Given the description of an element on the screen output the (x, y) to click on. 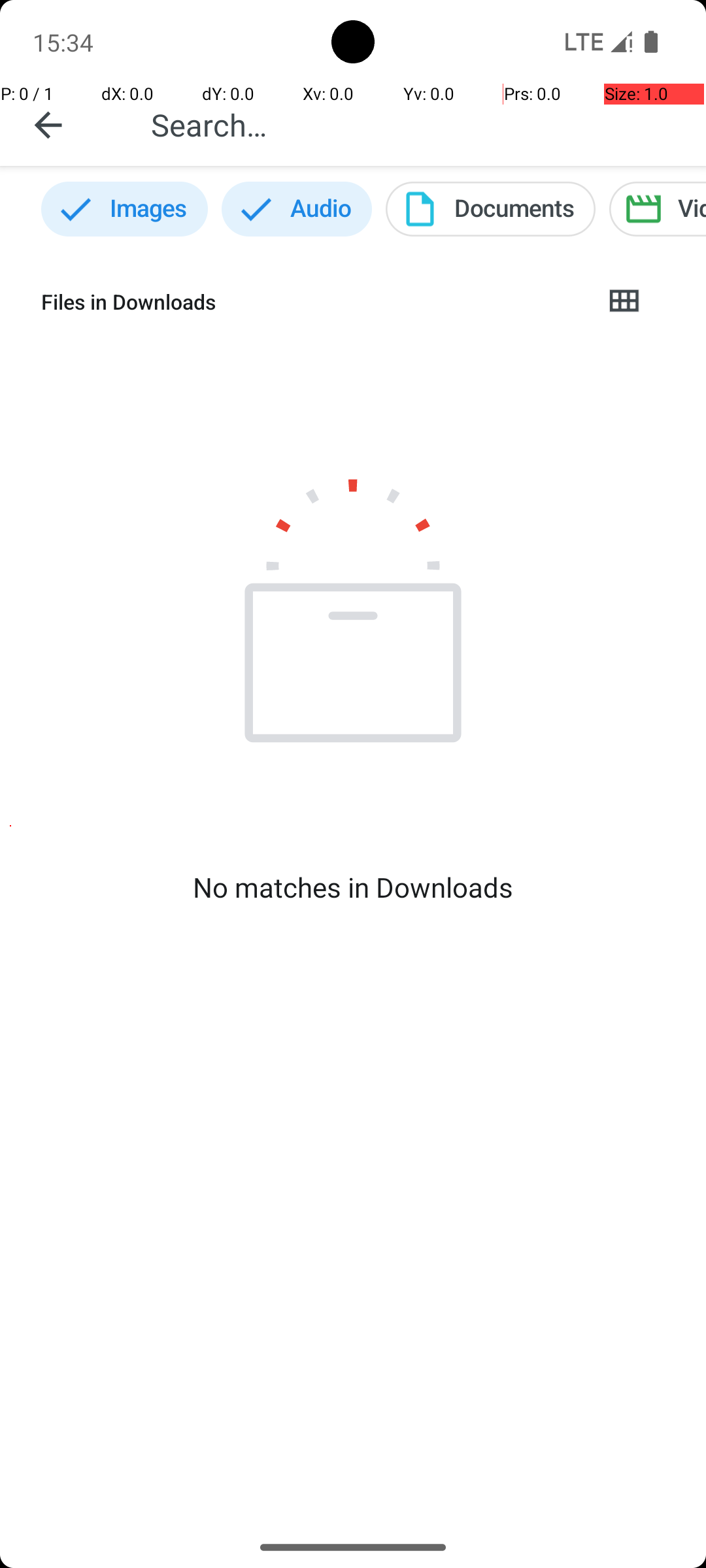
Grid view Element type: android.widget.TextView (622, 301)
No matches in Downloads Element type: android.widget.TextView (353, 886)
